Given the description of an element on the screen output the (x, y) to click on. 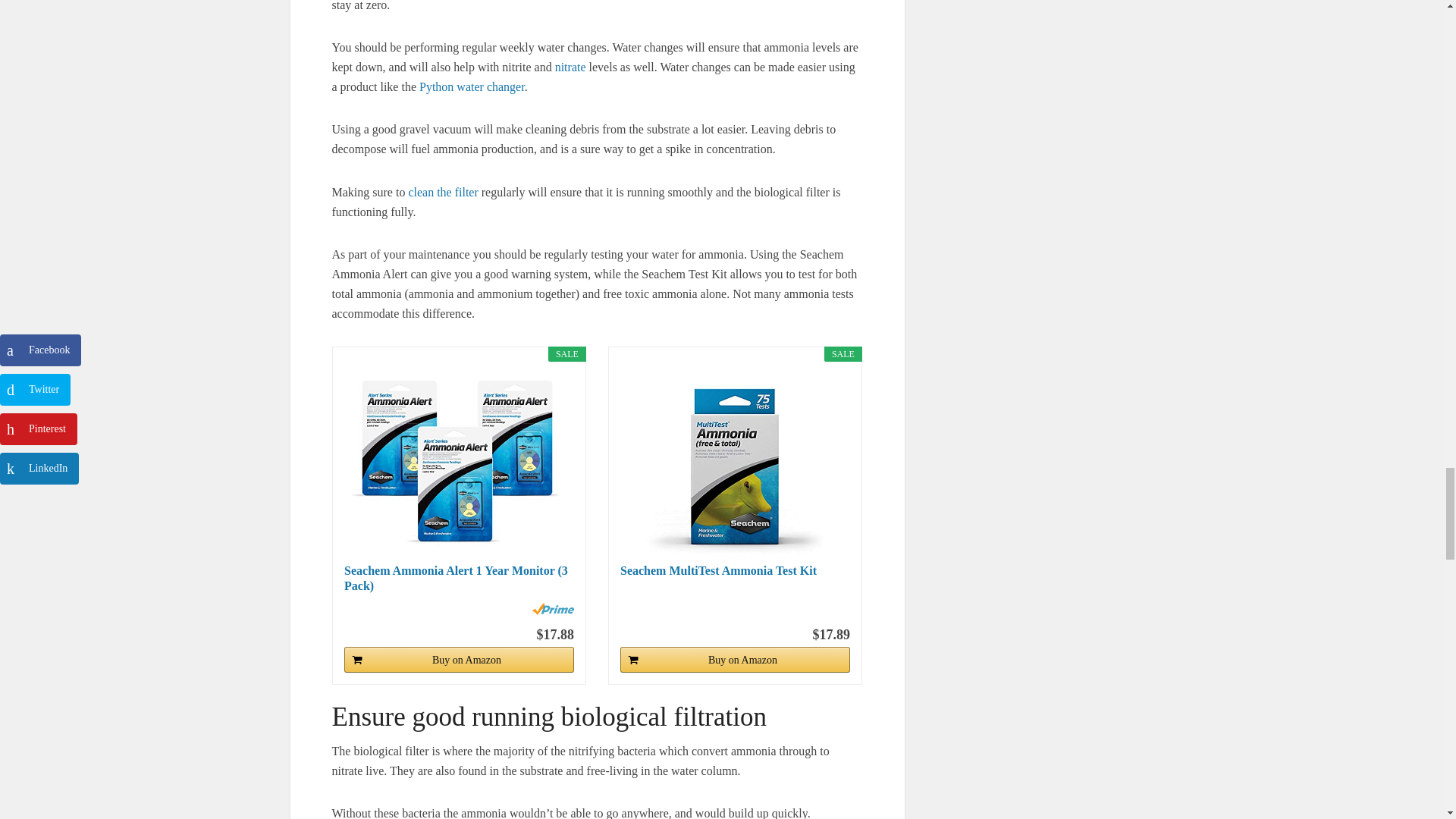
Buy on Amazon (458, 659)
nitrate (570, 66)
Seachem MultiTest Ammonia Test Kit (735, 578)
Amazon Prime (552, 608)
Buy on Amazon (735, 659)
clean the filter (442, 191)
Seachem MultiTest Ammonia Test Kit (735, 461)
Python water changer (471, 86)
